Given the description of an element on the screen output the (x, y) to click on. 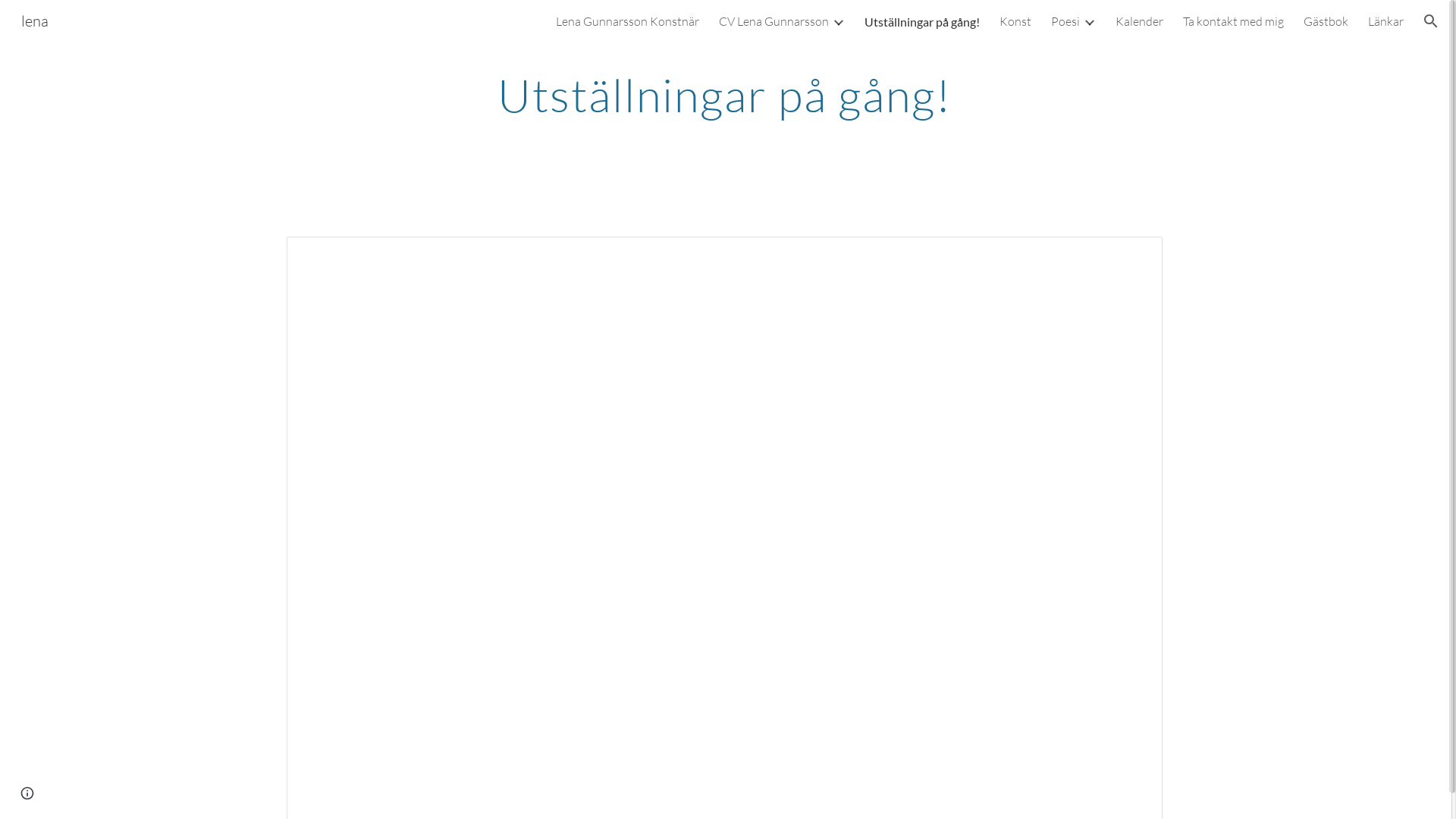
Poesi Element type: text (1065, 20)
Ta kontakt med mig Element type: text (1233, 20)
CV Lena Gunnarsson Element type: text (773, 20)
Kalender Element type: text (1139, 20)
lena Element type: text (34, 18)
Konst Element type: text (1015, 20)
Expand/Collapse Element type: hover (837, 20)
Expand/Collapse Element type: hover (1088, 20)
